Given the description of an element on the screen output the (x, y) to click on. 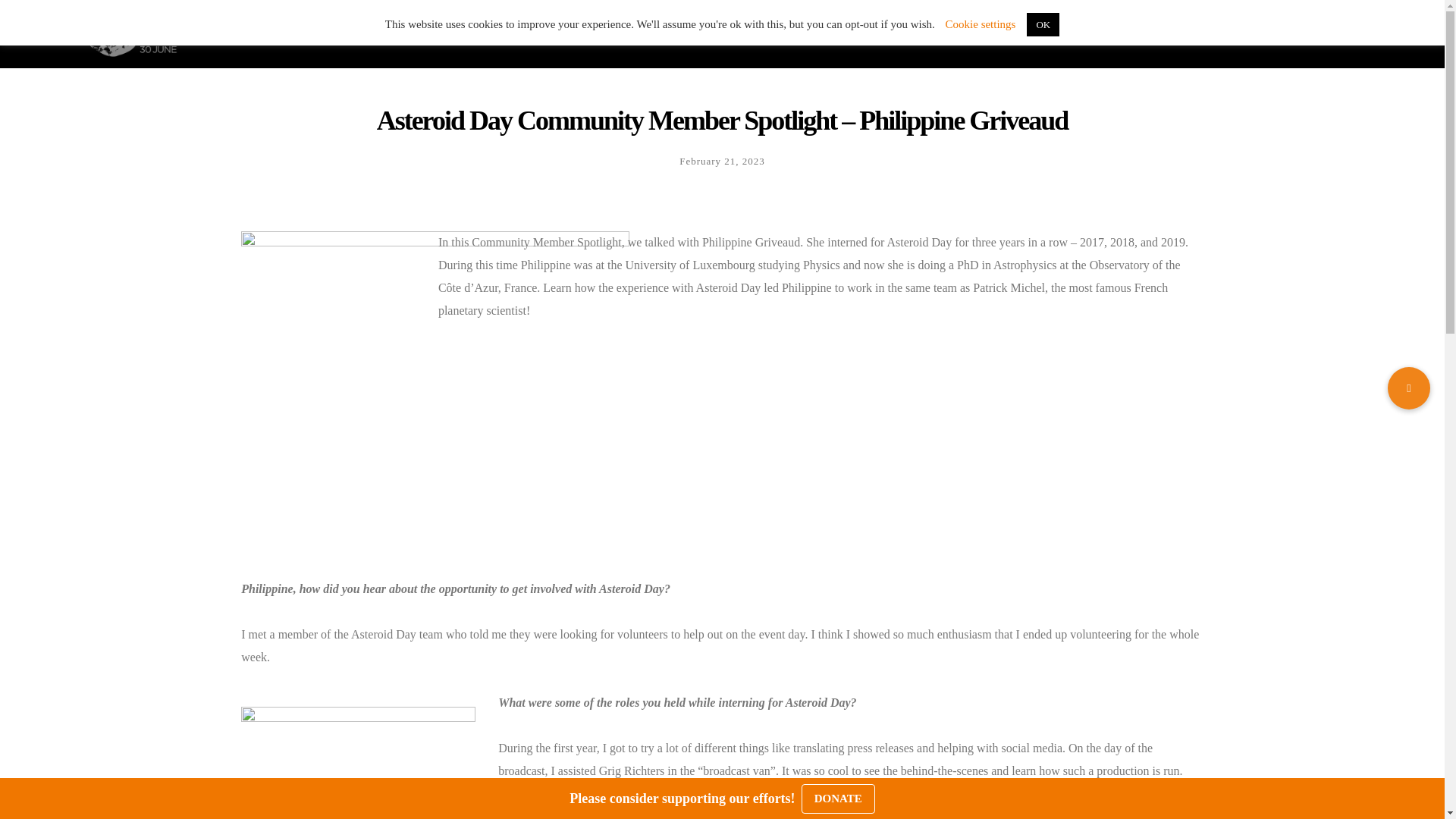
ABOUT (806, 33)
DISCOVER (721, 33)
EVENTS (633, 33)
WATCH (556, 33)
DONATE (885, 33)
